Given the description of an element on the screen output the (x, y) to click on. 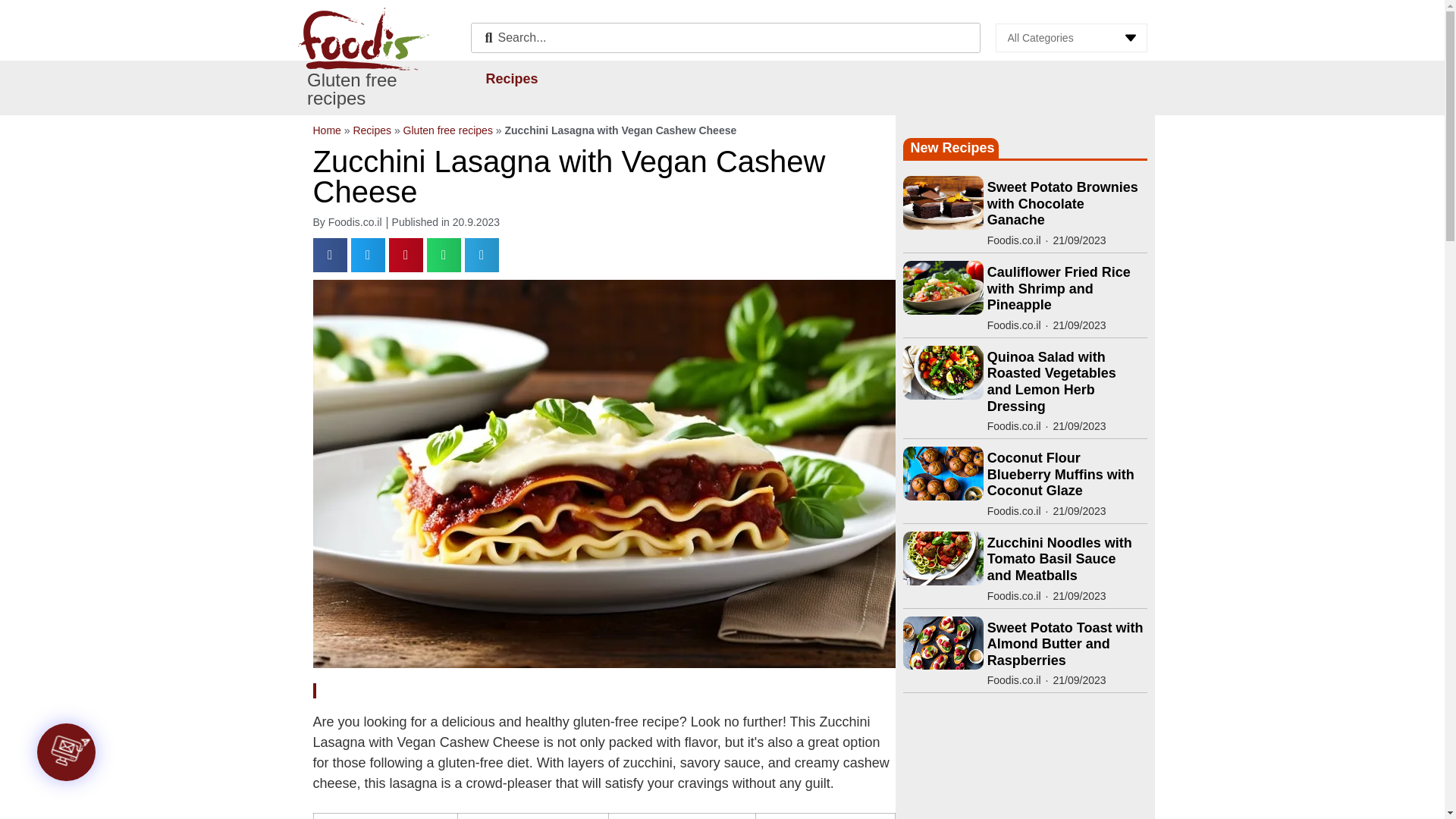
Gluten free recipes (352, 88)
Recipes (371, 130)
Recipes (511, 78)
Home (326, 130)
